Given the description of an element on the screen output the (x, y) to click on. 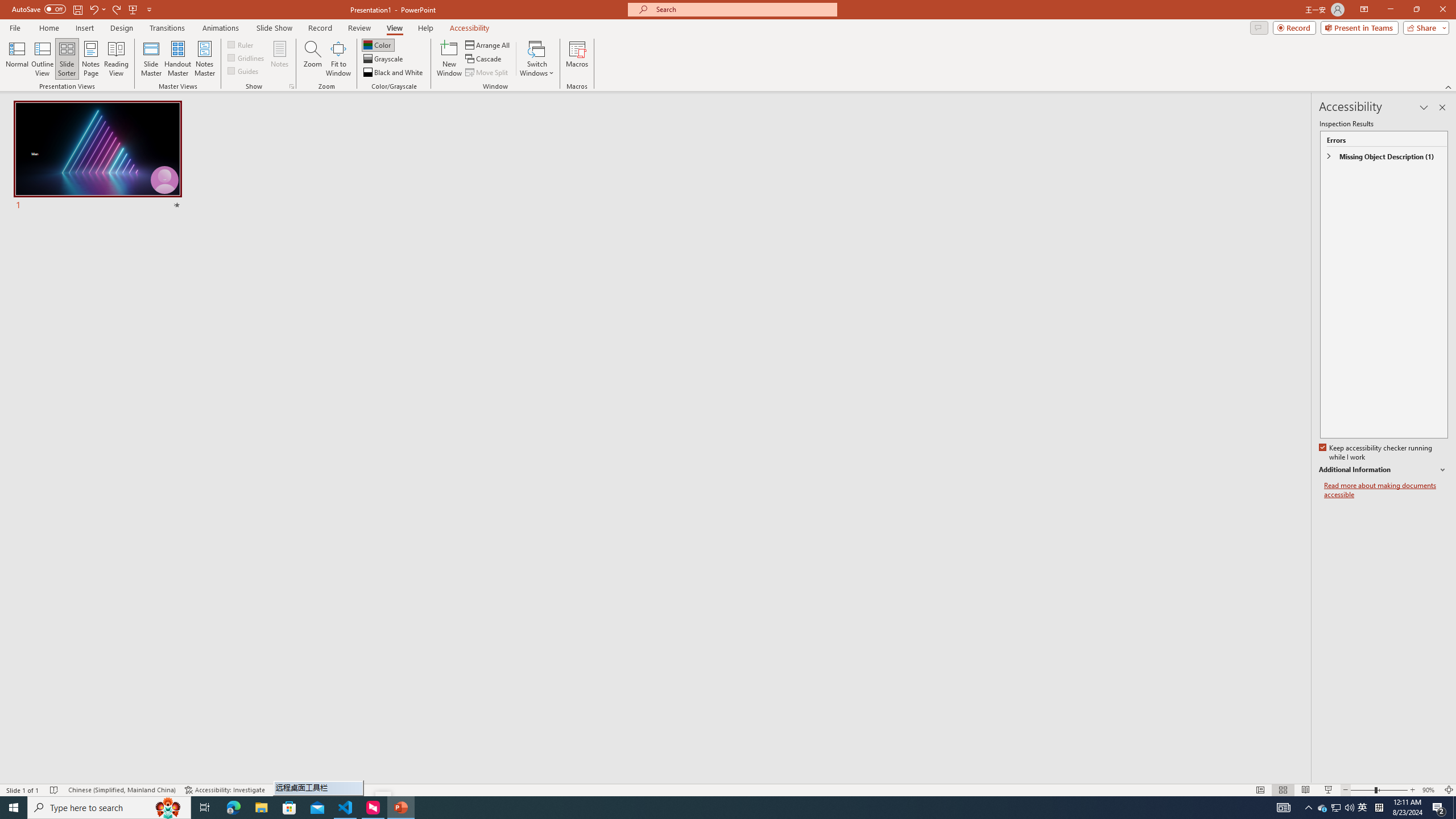
Outline View (42, 58)
Cascade (484, 58)
Fit to Window (338, 58)
Gridlines (246, 56)
Slide Master (151, 58)
